Given the description of an element on the screen output the (x, y) to click on. 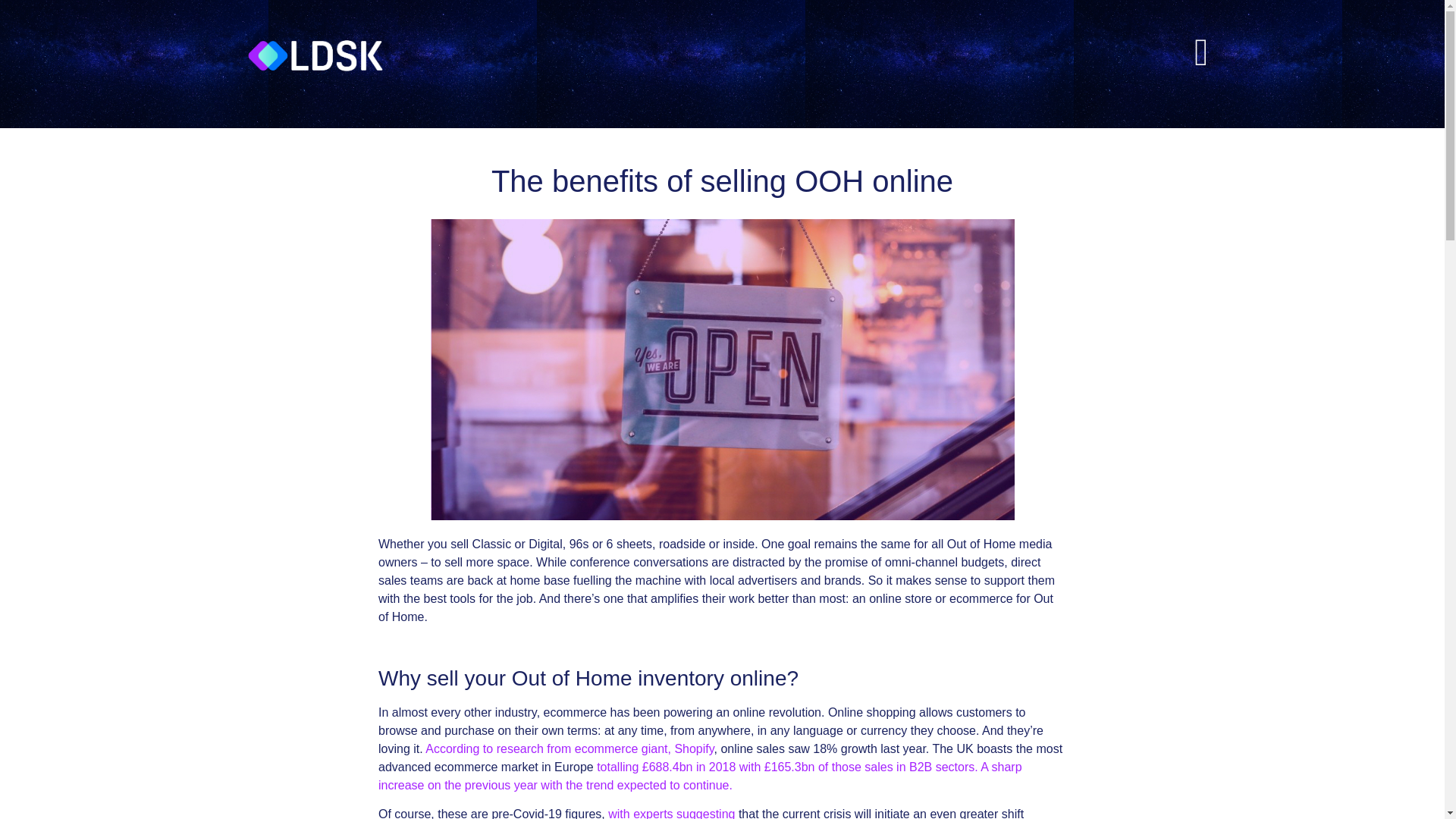
According to research from ecommerce giant, Shopify (569, 748)
with experts suggesting (671, 813)
